Given the description of an element on the screen output the (x, y) to click on. 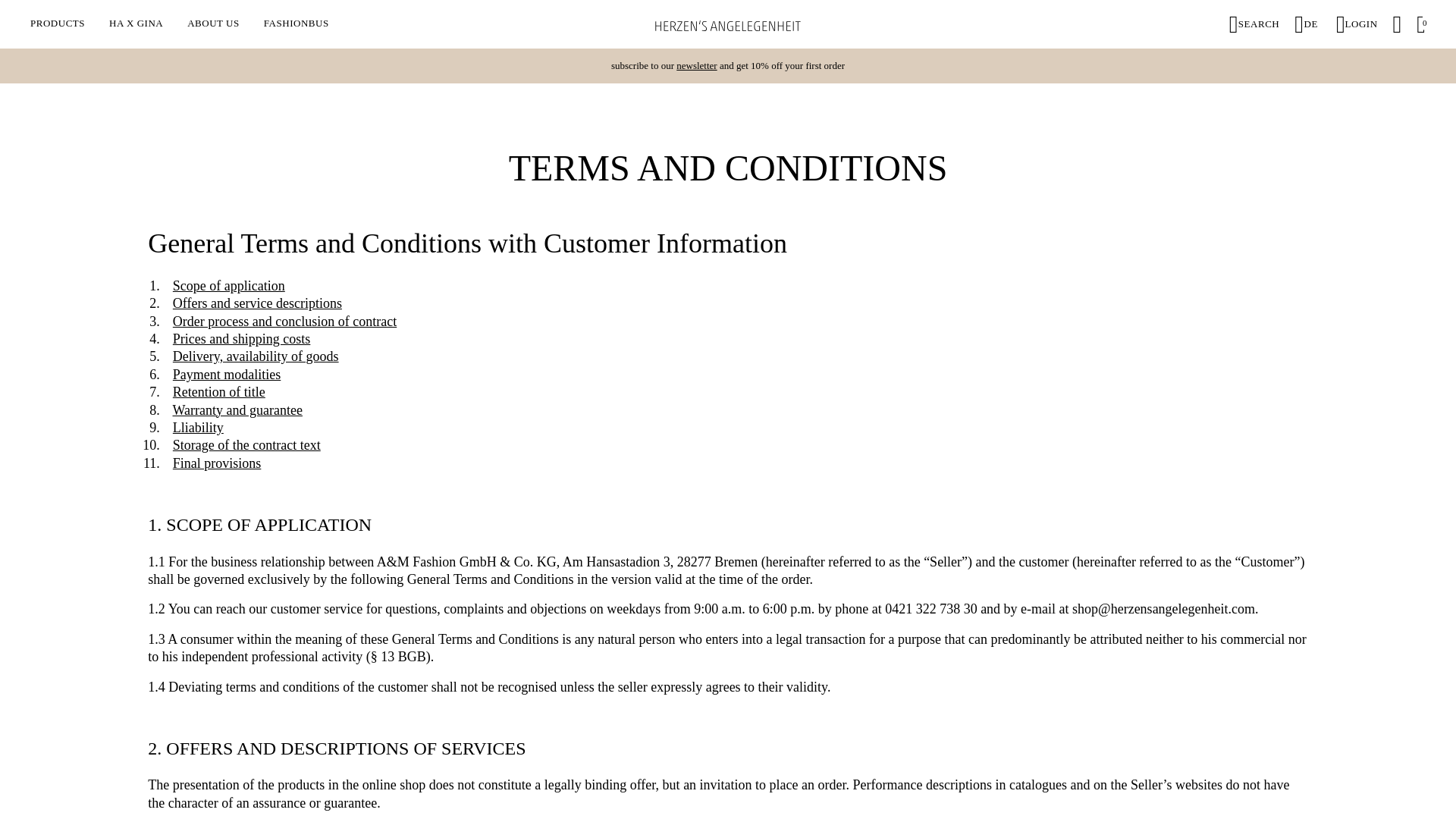
Scope of application (229, 285)
Offers and service descriptions (257, 303)
Retention of title (218, 391)
Warranty and guarantee (237, 409)
FASHIONBUS (296, 23)
Final provisions (217, 462)
newsletter (696, 65)
HA X GINA (136, 23)
Payment modalities (227, 374)
Lliability (198, 427)
